Given the description of an element on the screen output the (x, y) to click on. 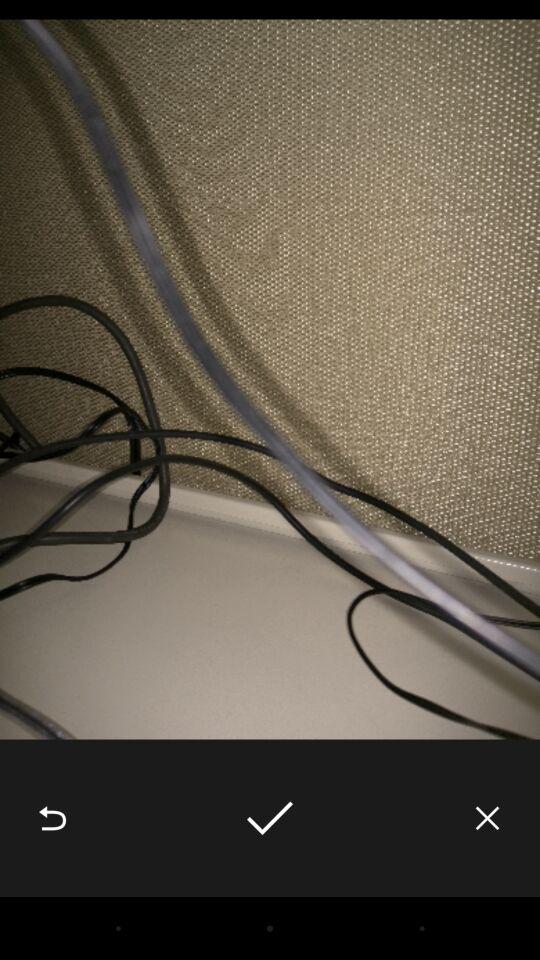
click the icon at the bottom left corner (52, 817)
